Given the description of an element on the screen output the (x, y) to click on. 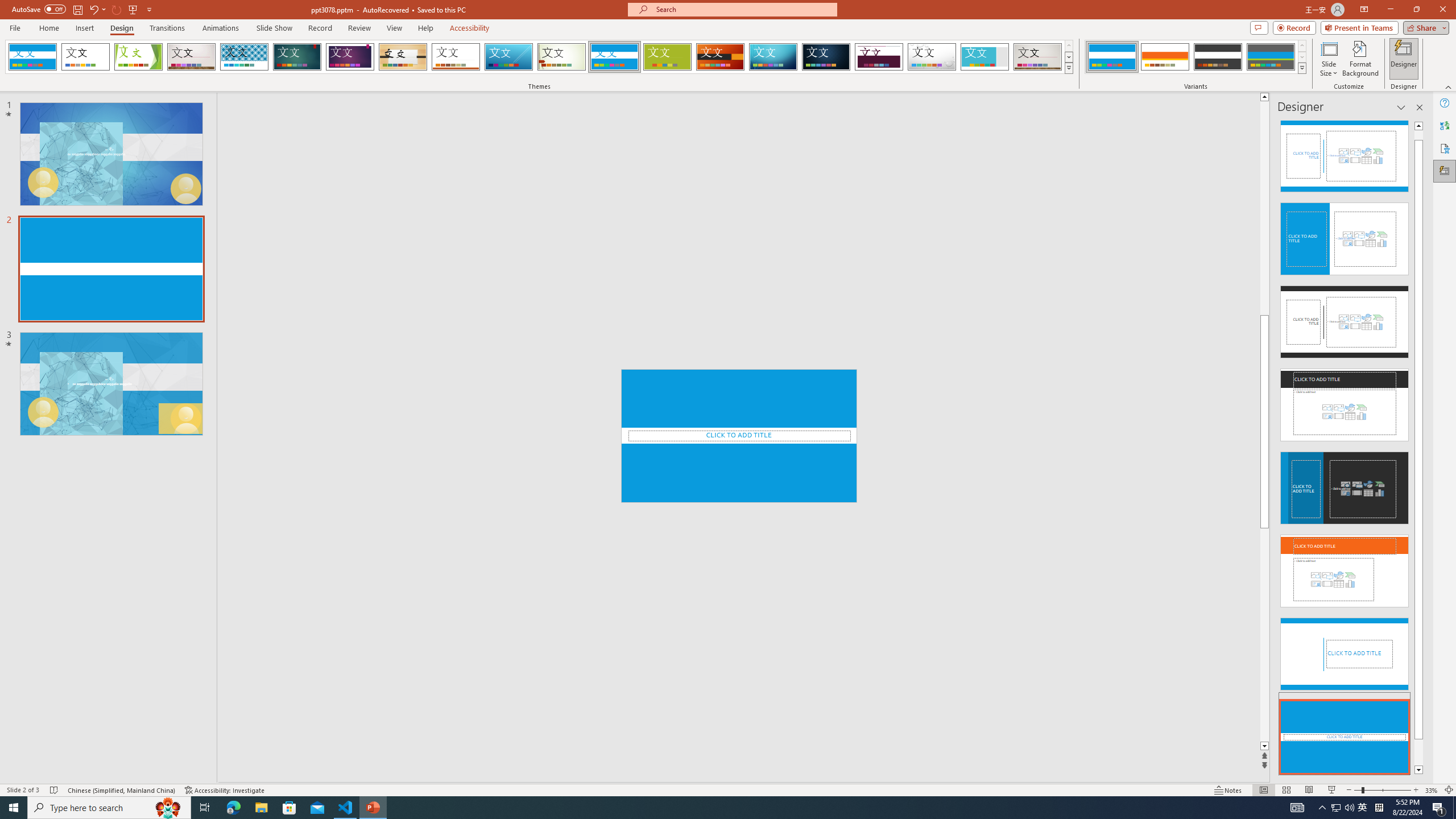
Integral (244, 56)
Dividend (879, 56)
Circuit (772, 56)
Berlin (720, 56)
Banded Variant 1 (1112, 56)
